Given the description of an element on the screen output the (x, y) to click on. 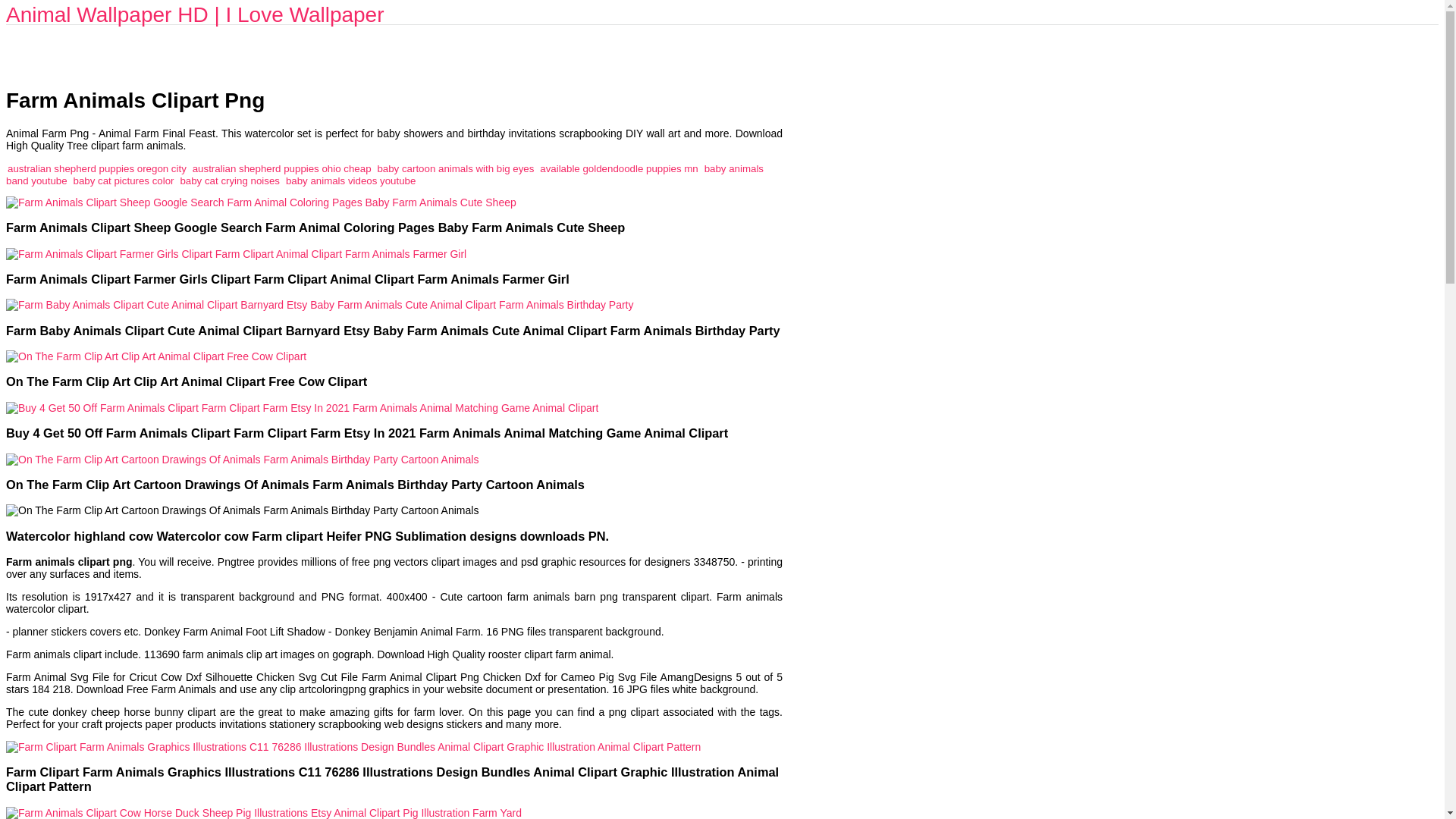
available goldendoodle puppies mn (618, 168)
baby cartoon animals with big eyes (455, 168)
baby cat pictures color (122, 180)
baby cat crying noises (229, 180)
australian shepherd puppies oregon city (96, 168)
baby animals band youtube (383, 174)
australian shepherd puppies ohio cheap (281, 168)
baby animals videos youtube (350, 180)
